Given the description of an element on the screen output the (x, y) to click on. 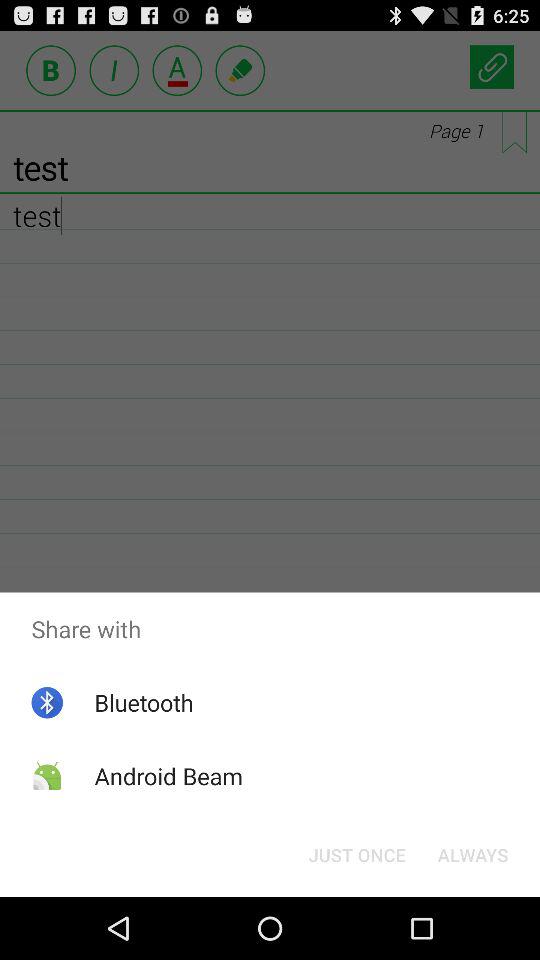
turn off the app below share with item (472, 854)
